Given the description of an element on the screen output the (x, y) to click on. 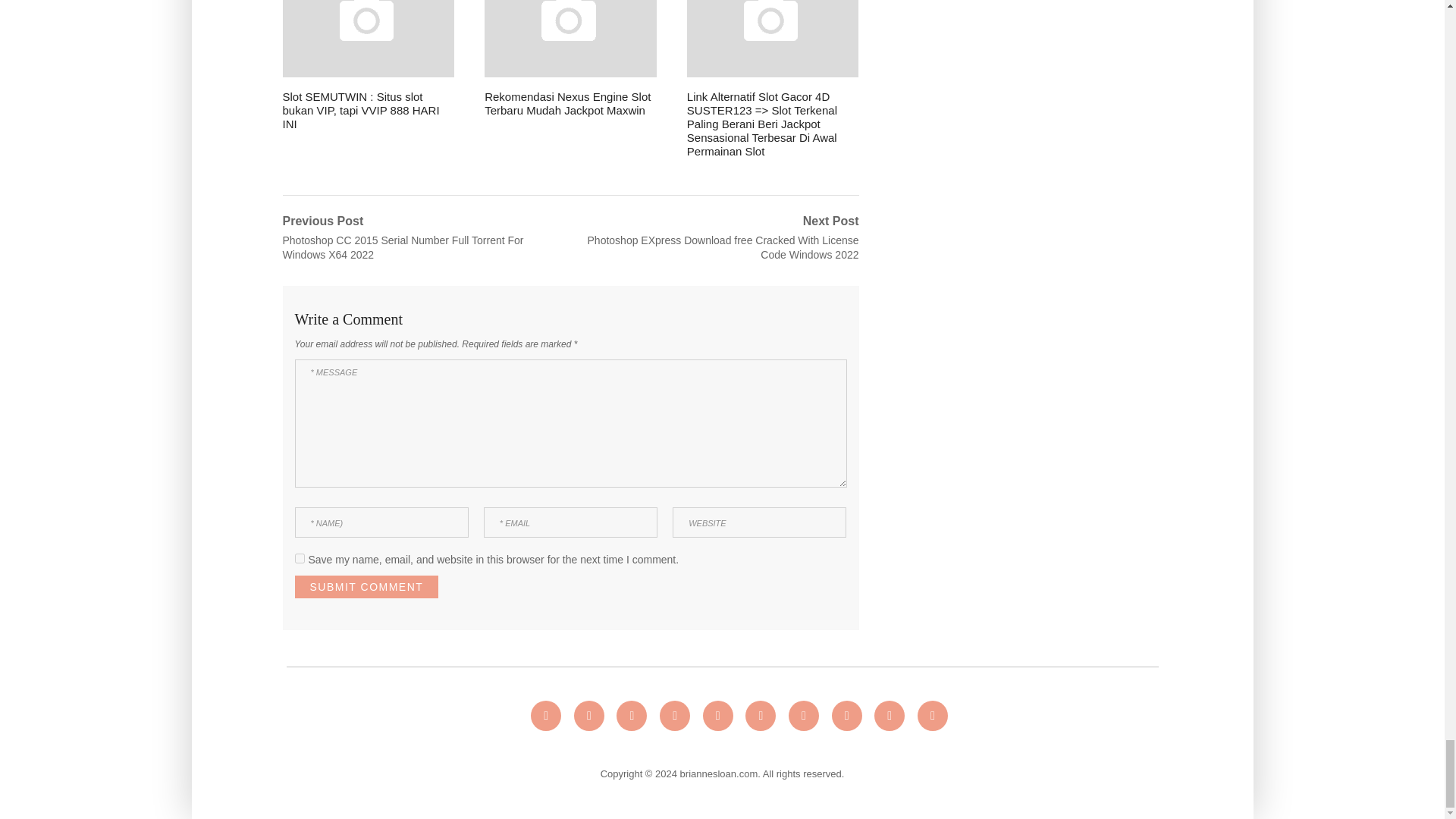
Rekomendasi Nexus Engine Slot Terbaru Mudah Jackpot Maxwin (570, 58)
Submit Comment (366, 586)
Slot SEMUTWIN : Situs slot bukan VIP, tapi VVIP 888 HARI INI (368, 65)
yes (299, 558)
